Given the description of an element on the screen output the (x, y) to click on. 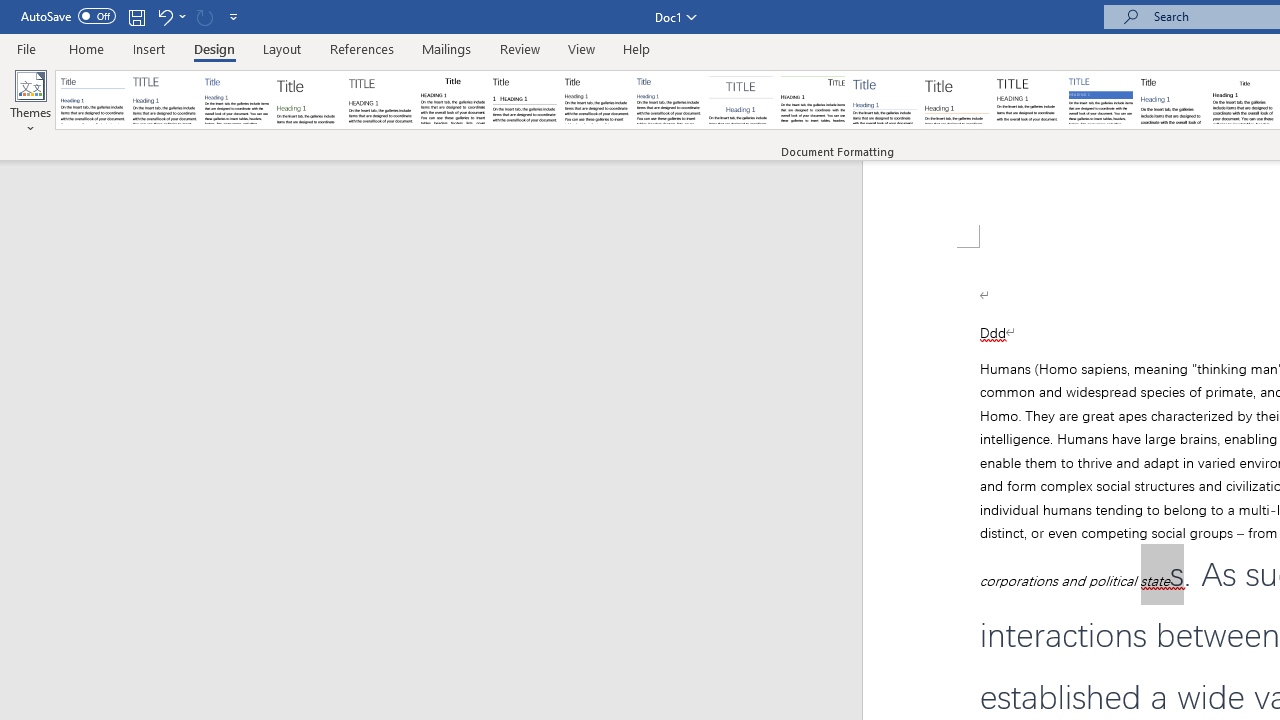
Black & White (Classic) (452, 100)
Lines (Simple) (884, 100)
Themes (30, 102)
Black & White (Numbered) (524, 100)
Black & White (Capitalized) (381, 100)
Shaded (1100, 100)
Lines (Stylish) (957, 100)
Word (1172, 100)
Centered (740, 100)
Undo Apply Quick Style Set (164, 15)
